Given the description of an element on the screen output the (x, y) to click on. 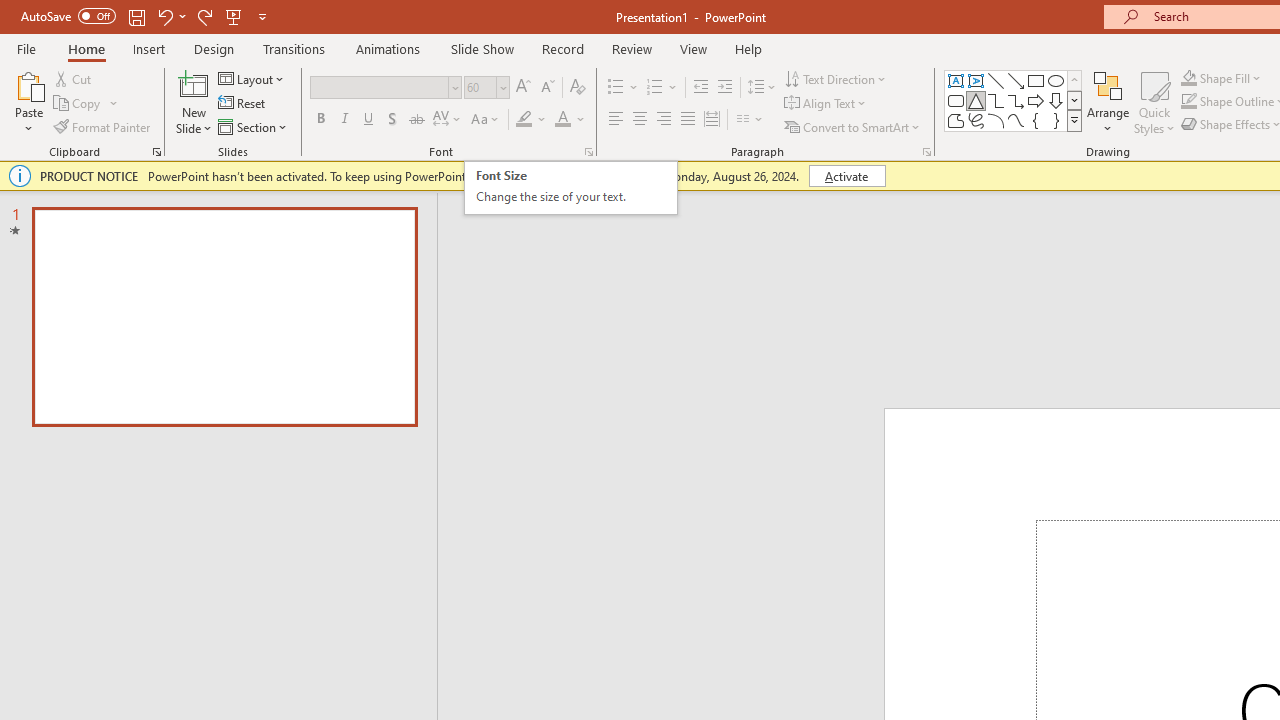
Shape Outline Dark Red, Accent 1 (1188, 101)
